Given the description of an element on the screen output the (x, y) to click on. 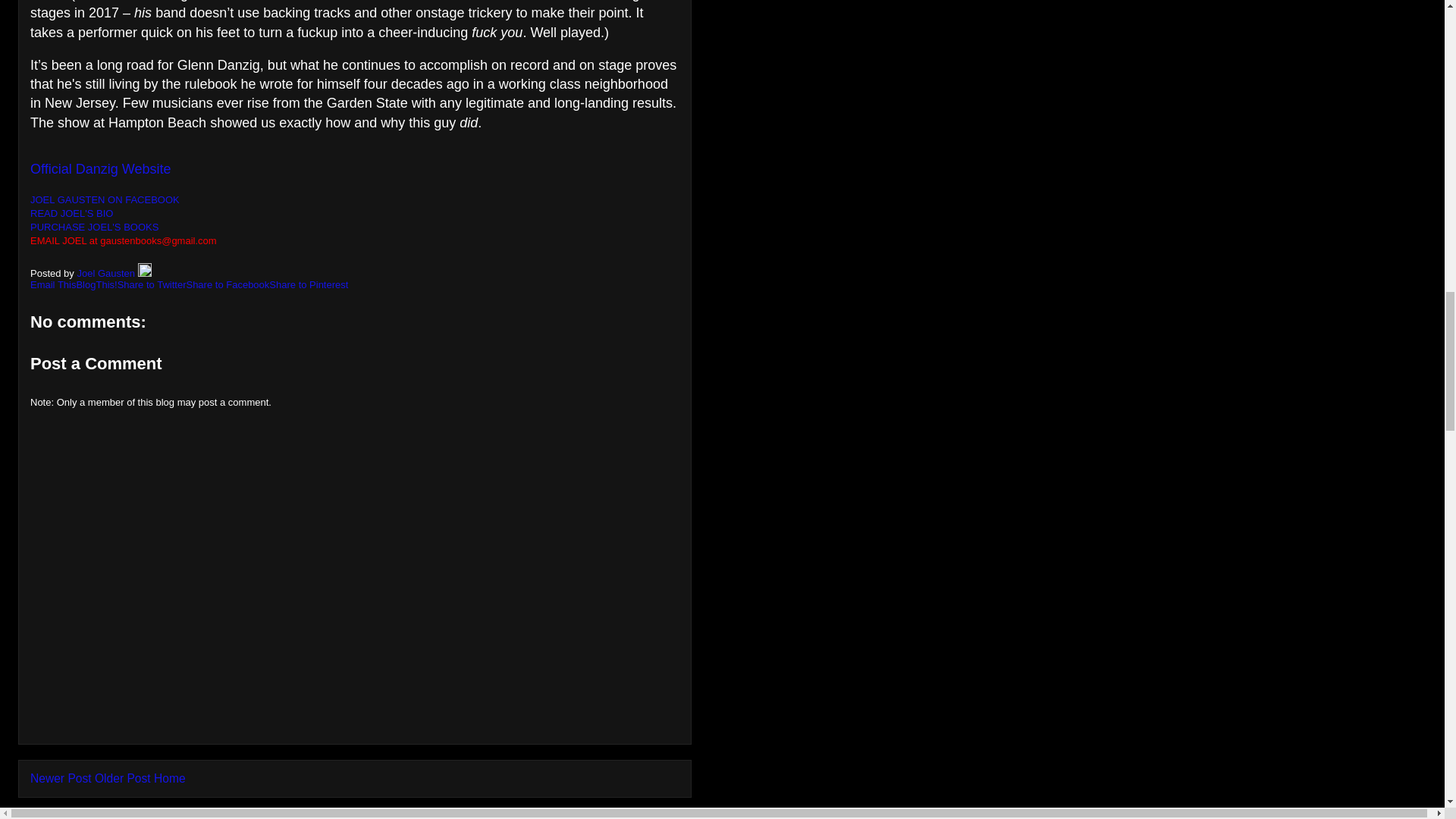
Older Post (122, 778)
author profile (106, 273)
Official Danzig Website (100, 170)
Older Post (122, 778)
BlogThis! (95, 284)
Email This (52, 284)
Edit Post (144, 273)
BlogThis! (95, 284)
Share to Twitter (151, 284)
Share to Facebook (227, 284)
Share to Twitter (151, 284)
Newer Post (60, 778)
Home (170, 778)
Share to Pinterest (308, 284)
Joel Gausten (106, 273)
